Given the description of an element on the screen output the (x, y) to click on. 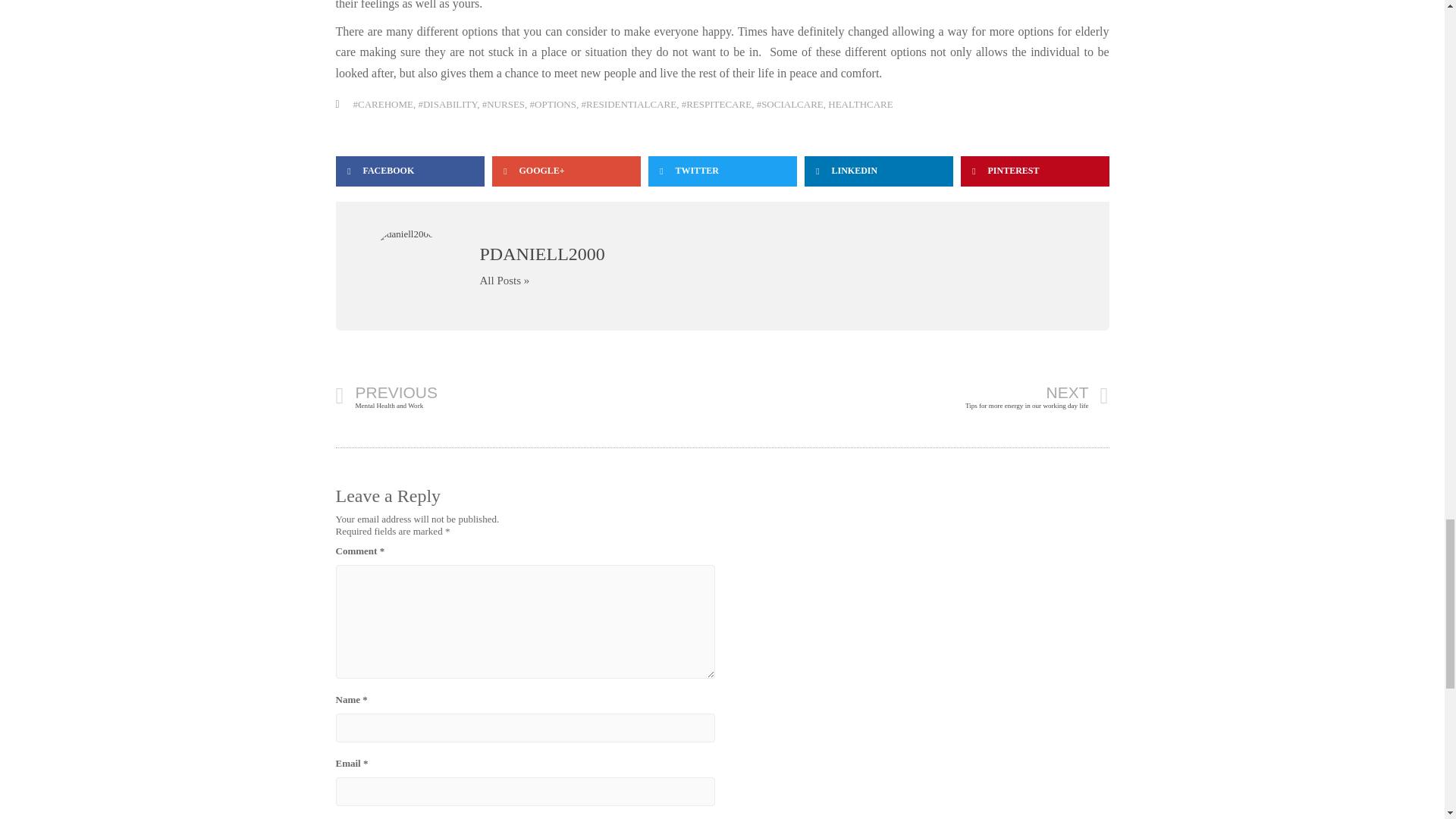
HEALTHCARE (860, 103)
PDANIELL2000 (528, 396)
